Given the description of an element on the screen output the (x, y) to click on. 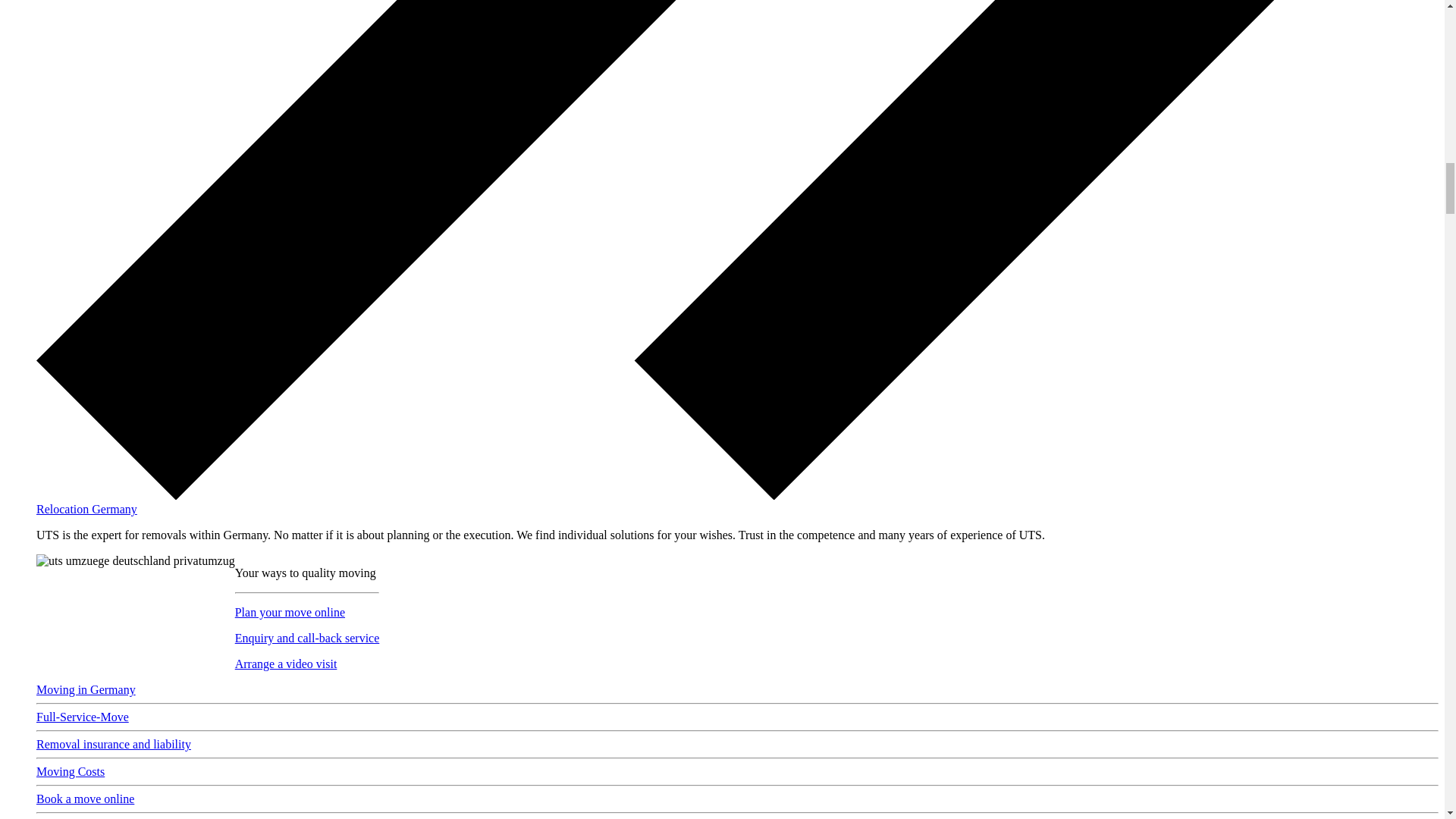
uts umzuege deutschland privatumzug (135, 561)
Enquiry and call-back service (307, 637)
Book a move online (84, 798)
Moving in Germany (85, 689)
Moving in Germany (85, 689)
Full-Service-Move (82, 716)
Moving Costs (70, 771)
Book a move online (84, 798)
Removal insurance and liability (113, 744)
Removal insurance and liability (113, 744)
Full-Service-Move (82, 716)
Arrange a video visit (285, 663)
Plan your move online (289, 612)
Moving Costs (70, 771)
